Given the description of an element on the screen output the (x, y) to click on. 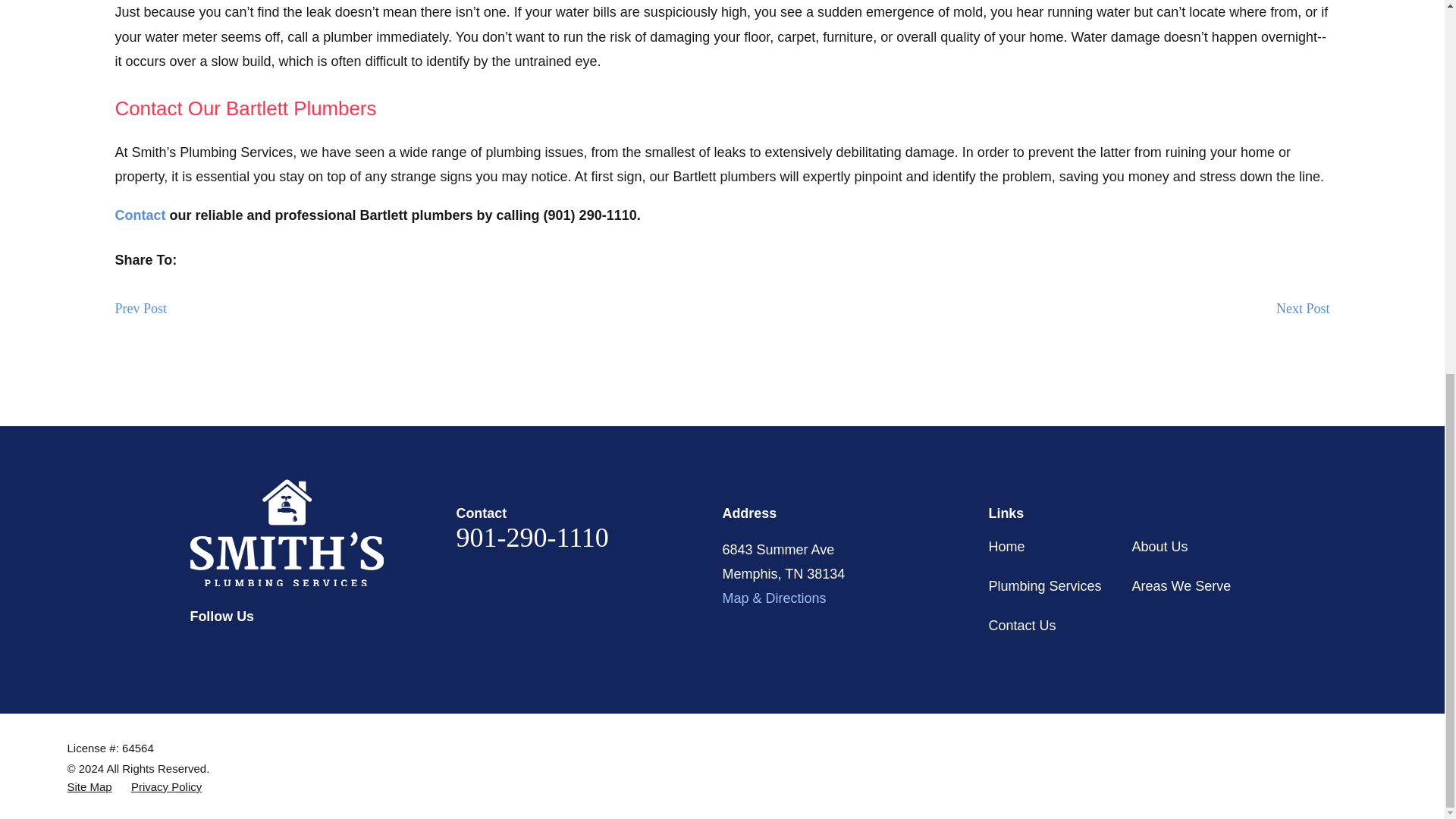
Smith's Plumbing Services (286, 532)
Yelp (278, 650)
Home (322, 532)
Twitter (239, 650)
Google Business Profile (317, 650)
Facebook (198, 650)
